Given the description of an element on the screen output the (x, y) to click on. 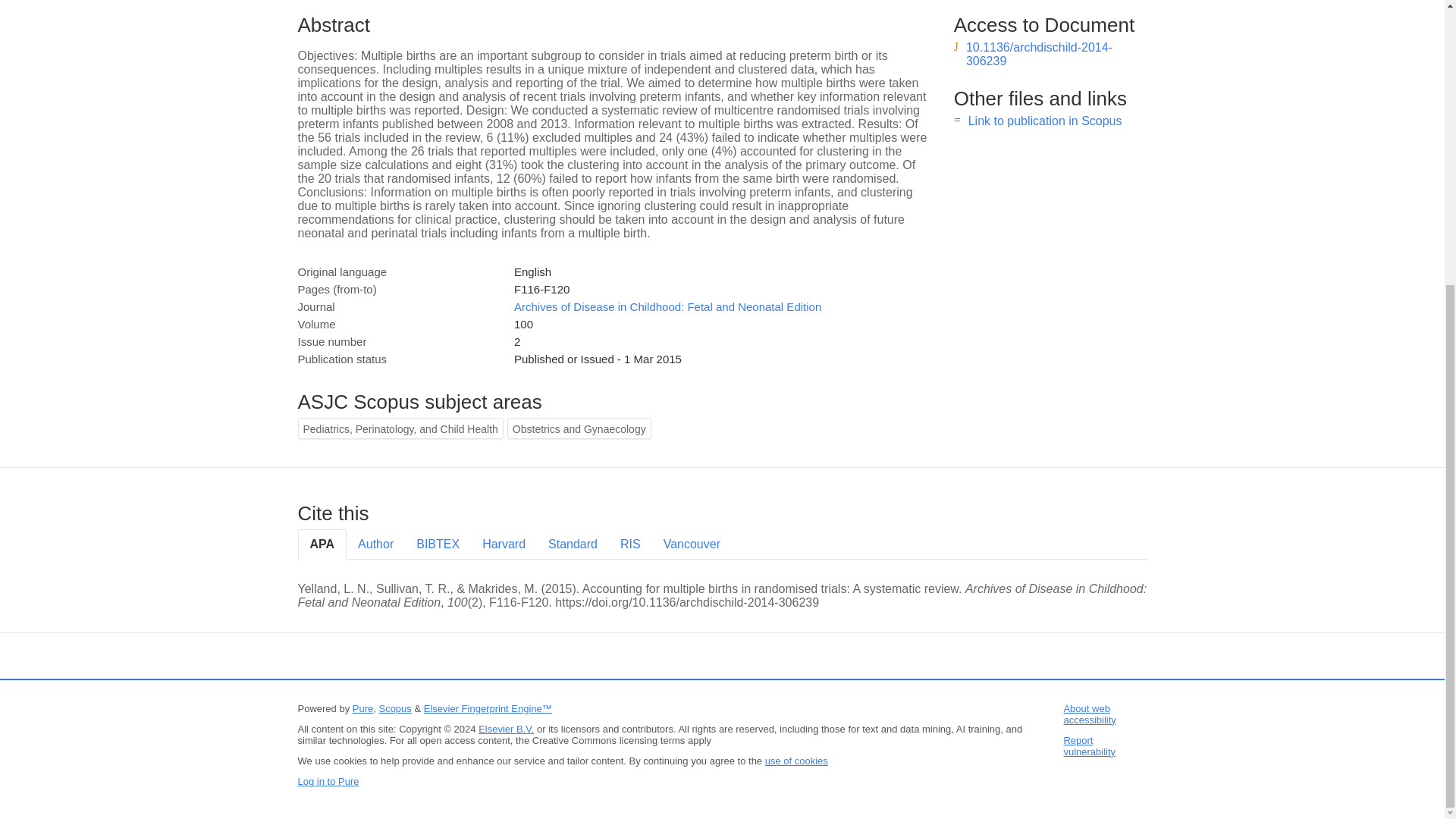
Log in to Pure (327, 781)
Archives of Disease in Childhood: Fetal and Neonatal Edition (667, 306)
use of cookies (796, 760)
Pure (362, 708)
Elsevier B.V. (506, 728)
Link to publication in Scopus (1045, 120)
Scopus (394, 708)
Report vulnerability (1088, 745)
About web accessibility (1088, 713)
